Given the description of an element on the screen output the (x, y) to click on. 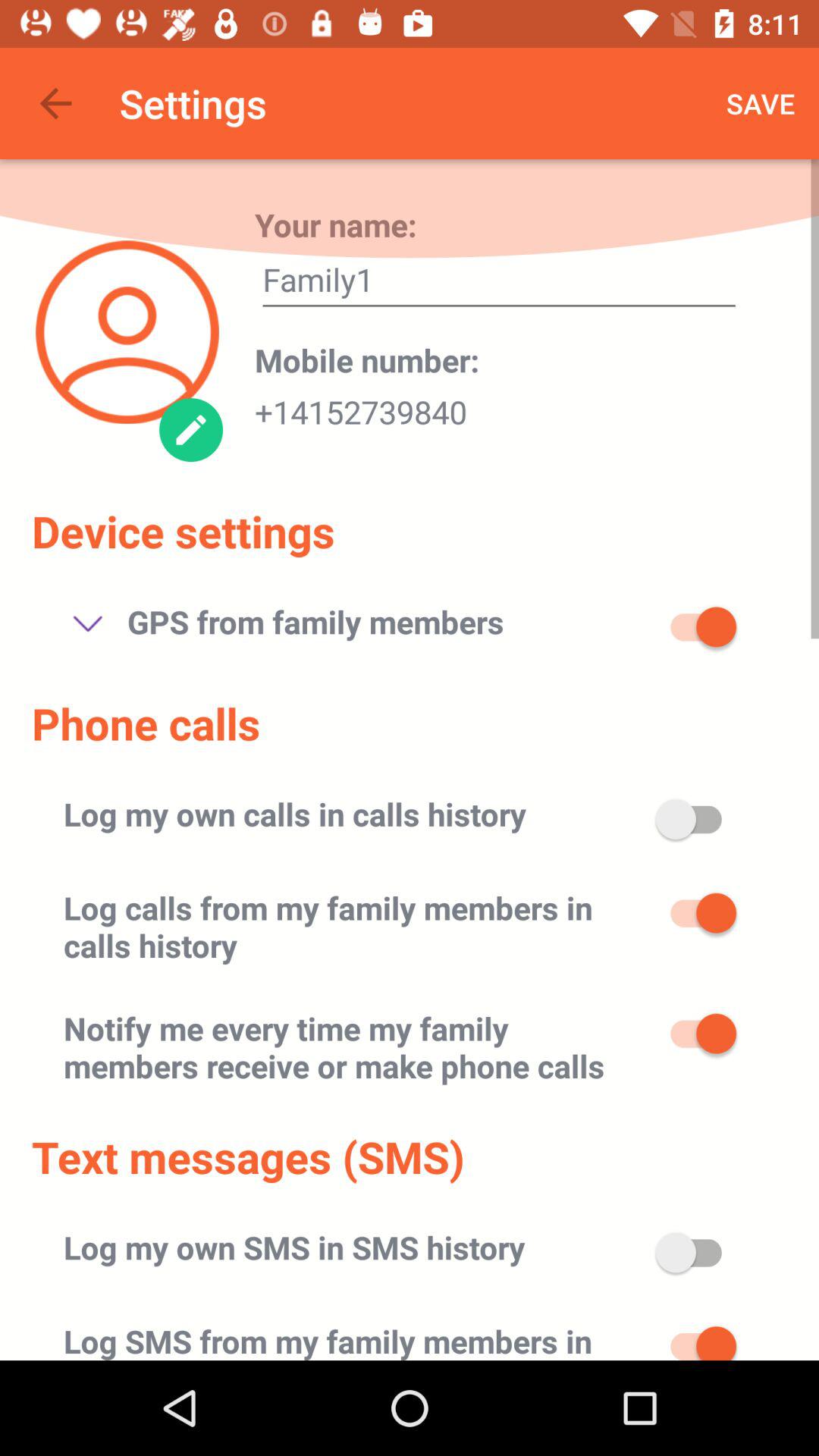
open the icon above family1 (760, 103)
